Given the description of an element on the screen output the (x, y) to click on. 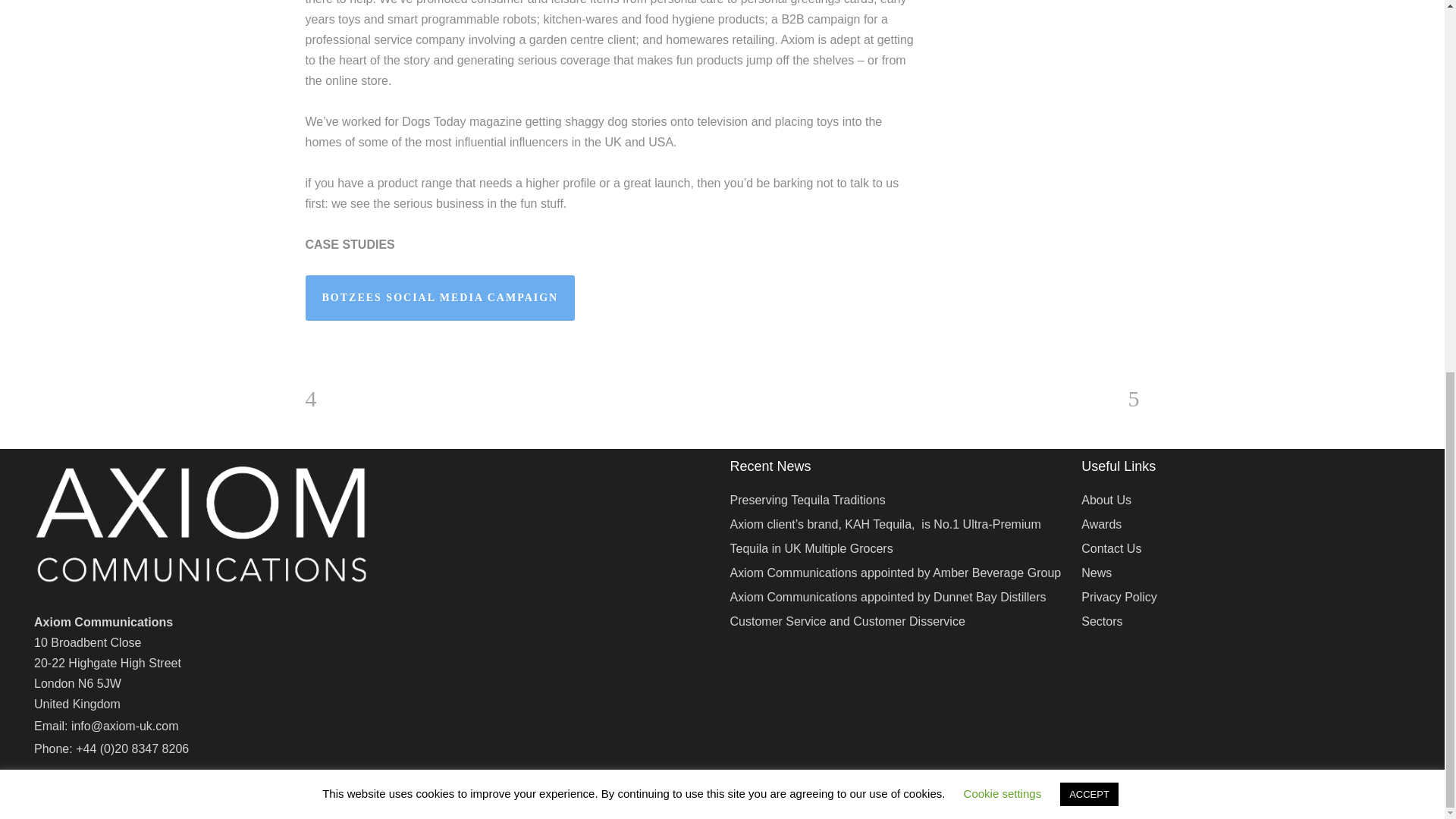
BOTZEES SOCIAL MEDIA CAMPAIGN (439, 298)
News (1245, 572)
Sectors (1245, 621)
Cookie settings (1002, 113)
Contact Us (1245, 548)
ACCEPT (1088, 114)
Awards (1245, 523)
Privacy Policy (1245, 596)
About Us (1245, 499)
Customer Service and Customer Disservice (895, 621)
Axiom Communications appointed by Amber Beverage Group (895, 572)
Axiom Communications appointed by Dunnet Bay Distillers (895, 596)
Preserving Tequila Traditions (895, 499)
